Given the description of an element on the screen output the (x, y) to click on. 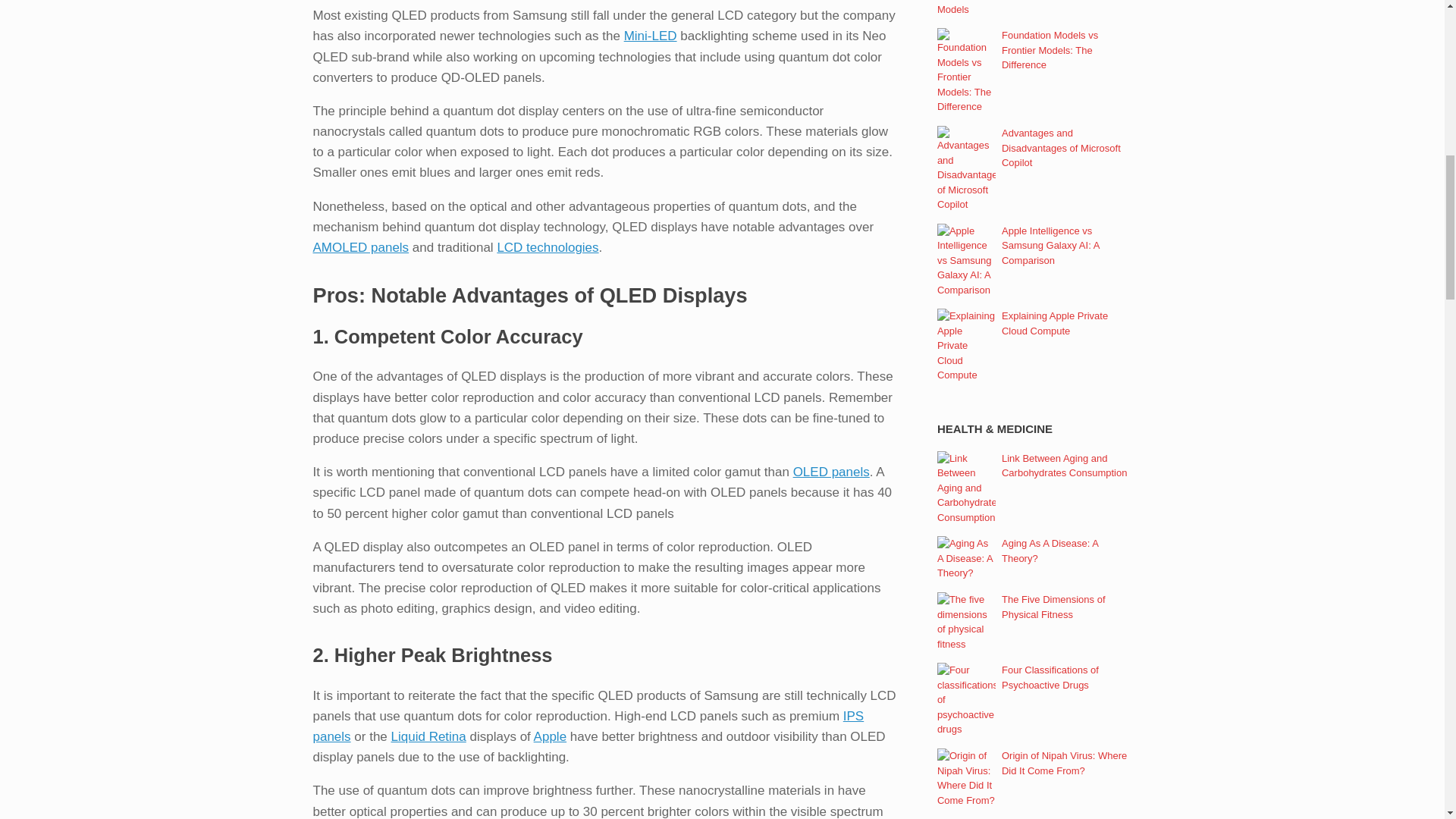
OLED panels (831, 472)
Apple (550, 736)
Foundation Models vs Frontier Models: The Difference (1049, 49)
Liquid Retina (428, 736)
AMOLED panels (361, 247)
Mini-LED (650, 35)
IPS panels (588, 726)
LCD technologies (547, 247)
